Given the description of an element on the screen output the (x, y) to click on. 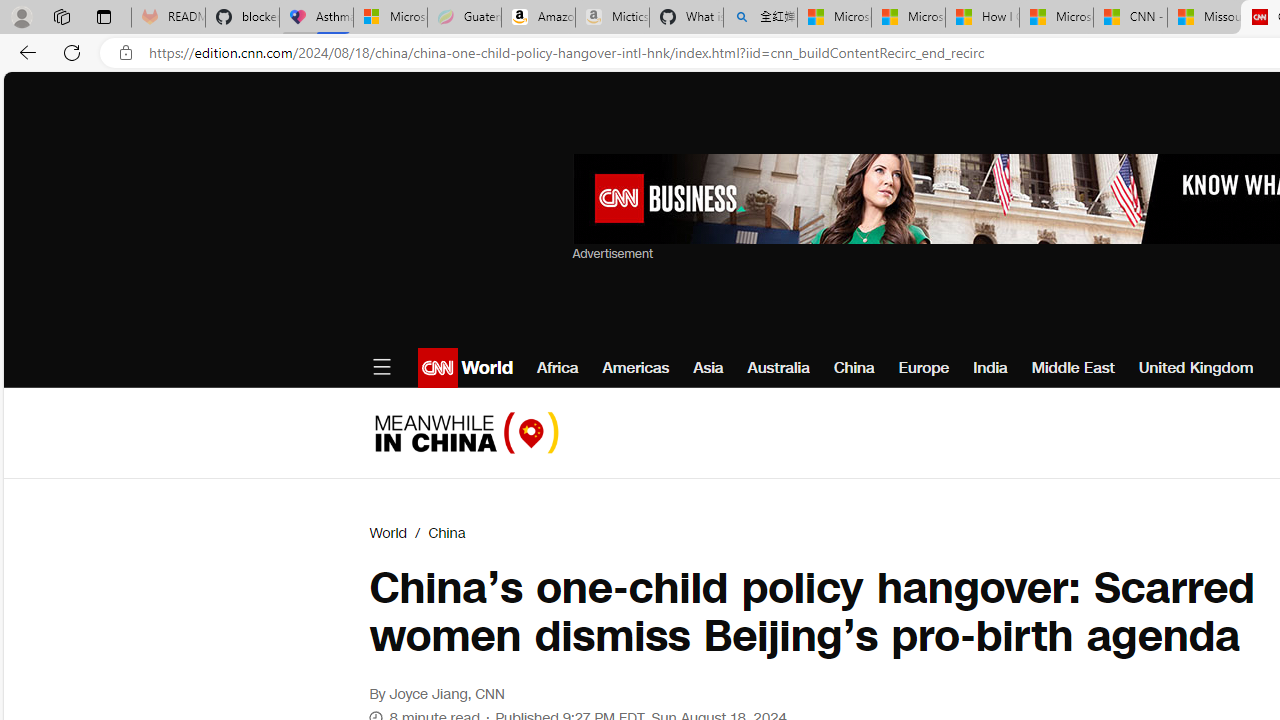
World (388, 533)
How I Got Rid of Microsoft Edge's Unnecessary Features (981, 17)
Asthma Inhalers: Names and Types (316, 17)
